Given the description of an element on the screen output the (x, y) to click on. 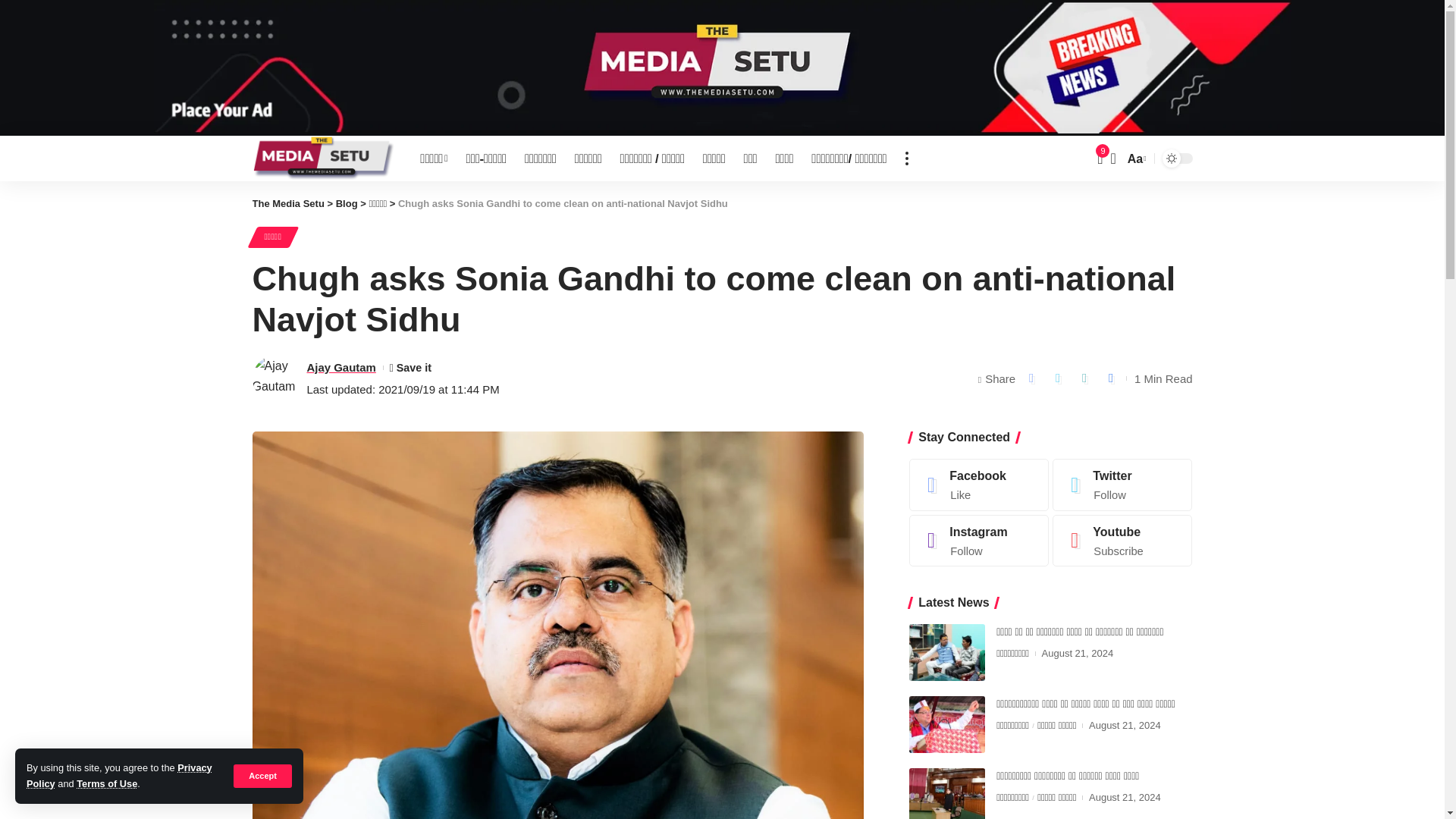
Accept (262, 775)
The Media Setu (323, 157)
Go to Blog. (347, 203)
Go to The Media Setu. (287, 203)
Terms of Use (106, 783)
Privacy Policy (119, 775)
